Given the description of an element on the screen output the (x, y) to click on. 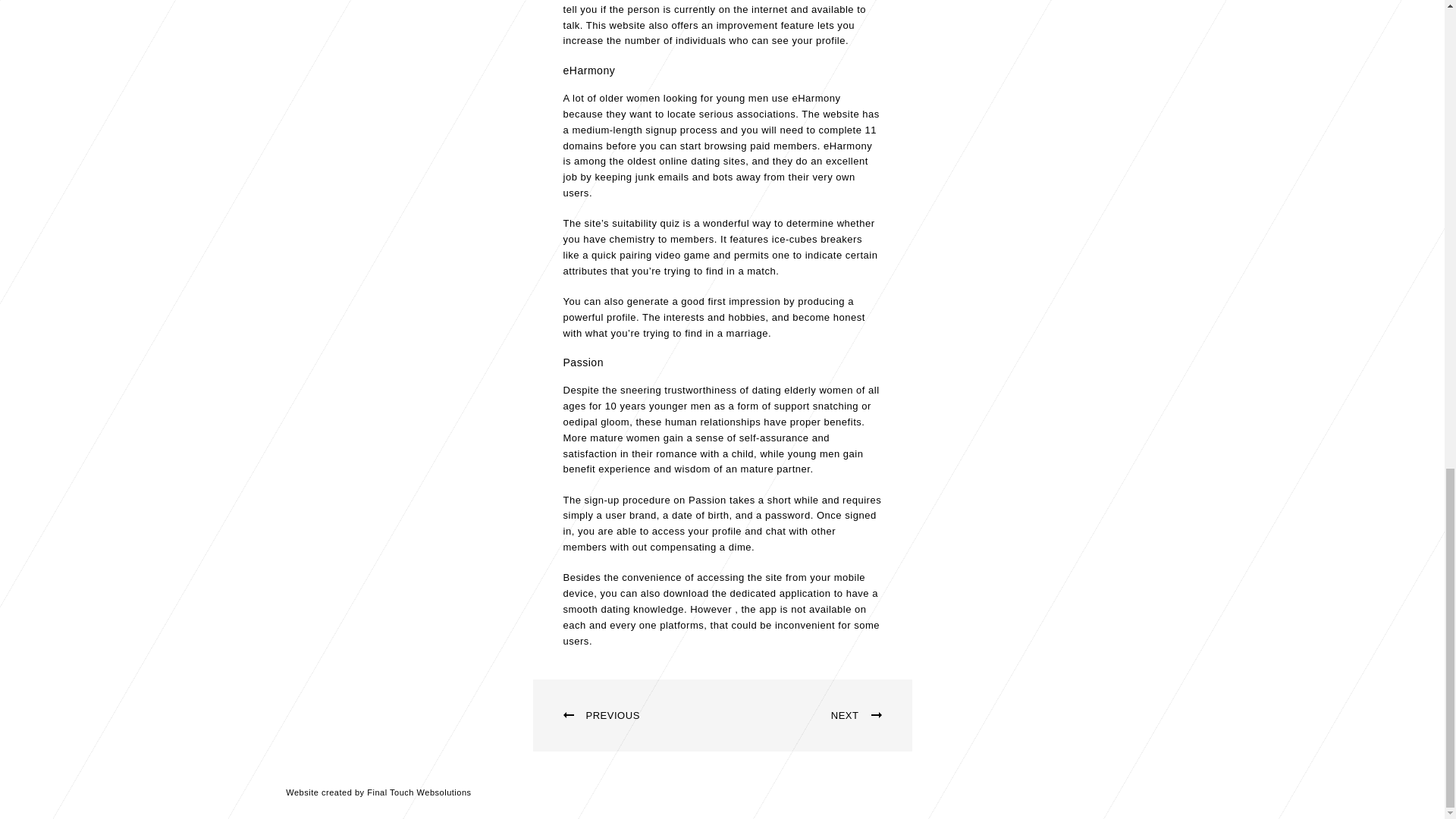
Final Touch Websolutions (418, 791)
NEXT (816, 715)
PREVIOUS (627, 715)
